Given the description of an element on the screen output the (x, y) to click on. 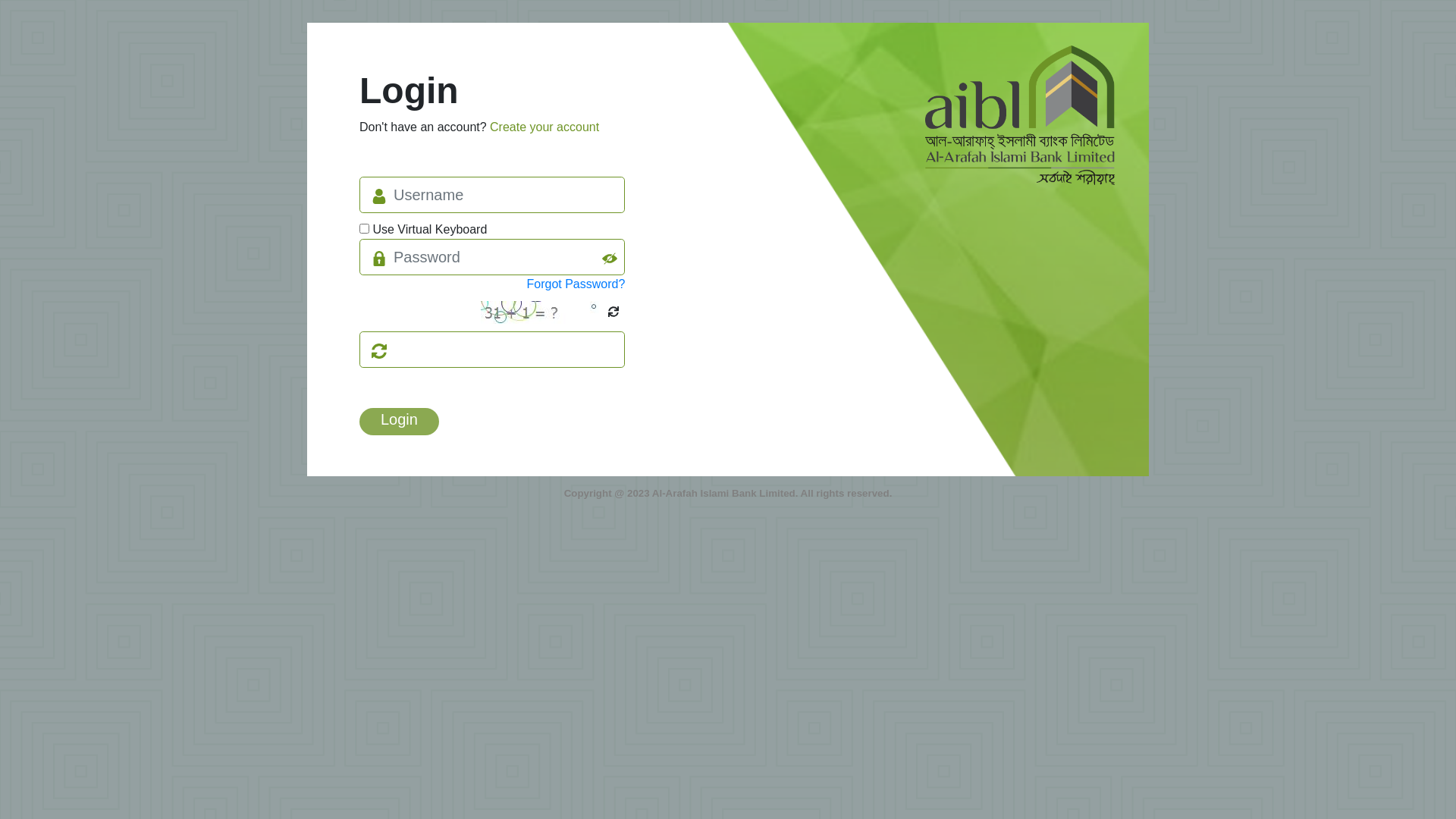
Create your account Element type: text (544, 126)
Login Element type: text (399, 421)
Forgot Password? Element type: text (575, 283)
